Given the description of an element on the screen output the (x, y) to click on. 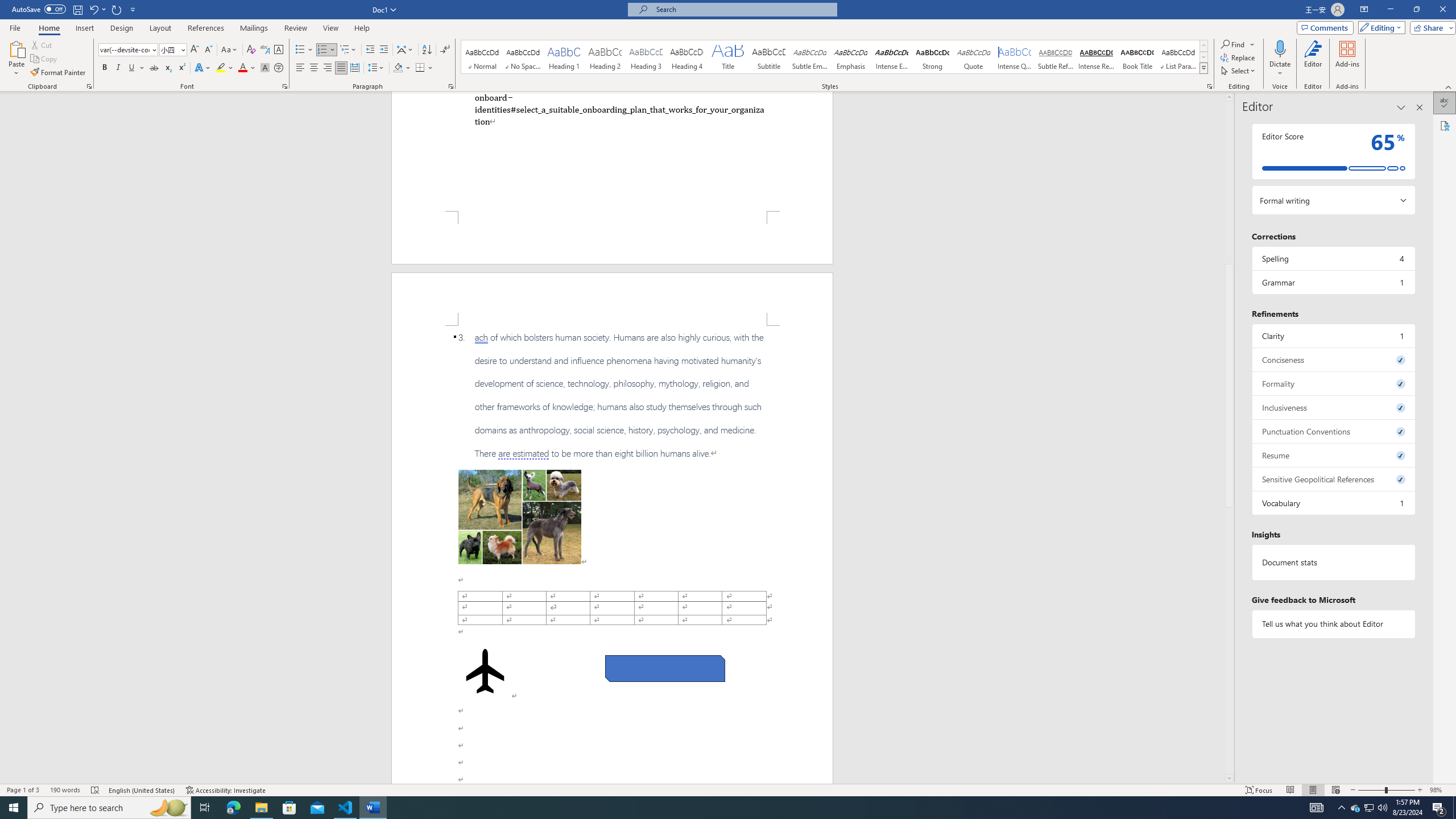
View (330, 28)
Ribbon Display Options (1364, 9)
Paste (16, 48)
Heading 1 (564, 56)
Tell us what you think about Editor (1333, 624)
Clarity, 1 issue. Press space or enter to review items. (1333, 335)
Restore Down (1416, 9)
Font... (285, 85)
AutoSave (38, 9)
Class: NetUIImage (1204, 68)
Align Right (327, 67)
Close (1442, 9)
Line and Paragraph Spacing (376, 67)
Find (1237, 44)
Find (1232, 44)
